Given the description of an element on the screen output the (x, y) to click on. 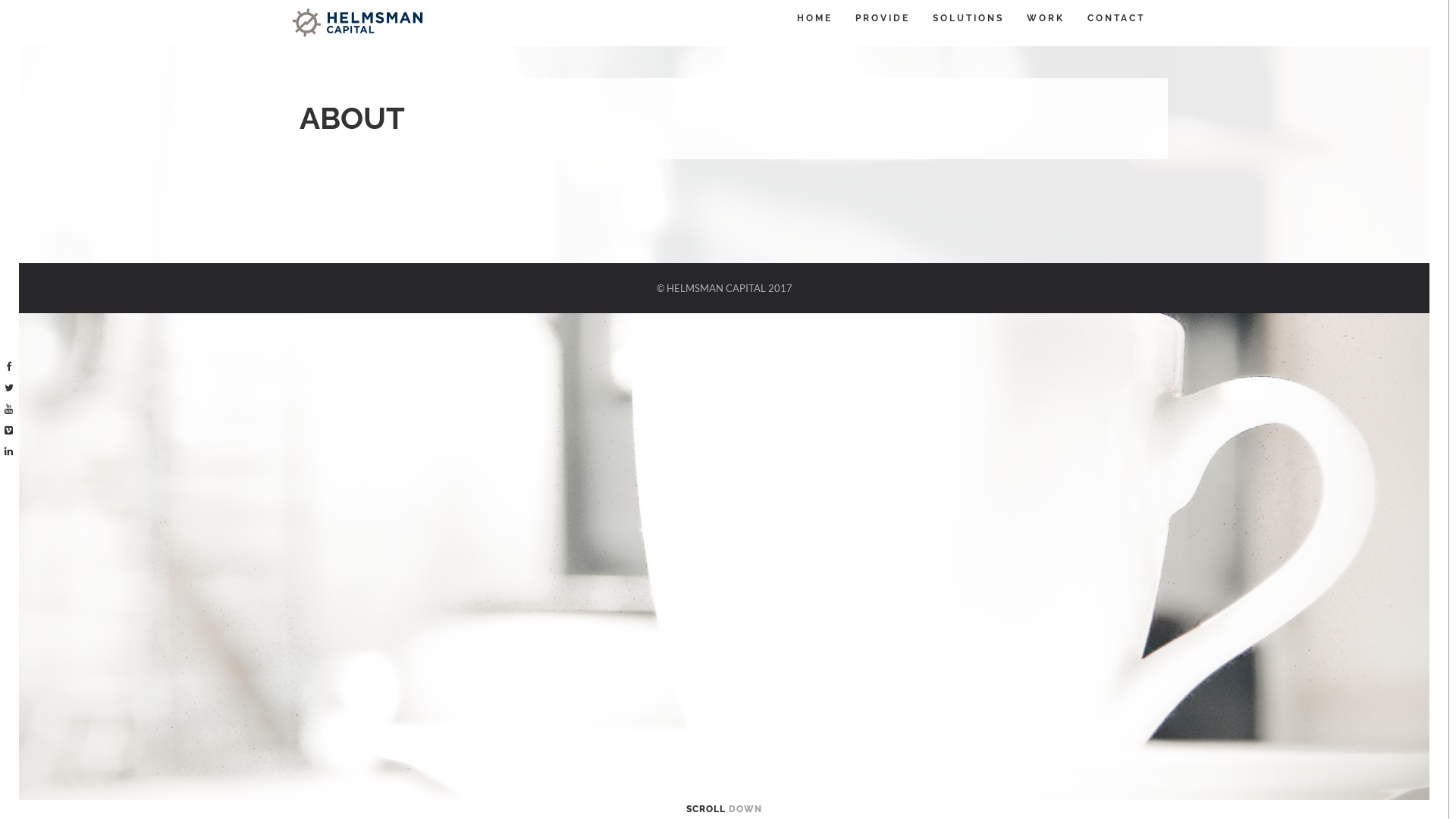
WORK Element type: text (1045, 17)
PROVIDE Element type: text (882, 17)
CONTACT Element type: text (1116, 17)
SCROLL DOWN Element type: text (724, 808)
SOLUTIONS Element type: text (968, 17)
HOME Element type: text (814, 17)
